Given the description of an element on the screen output the (x, y) to click on. 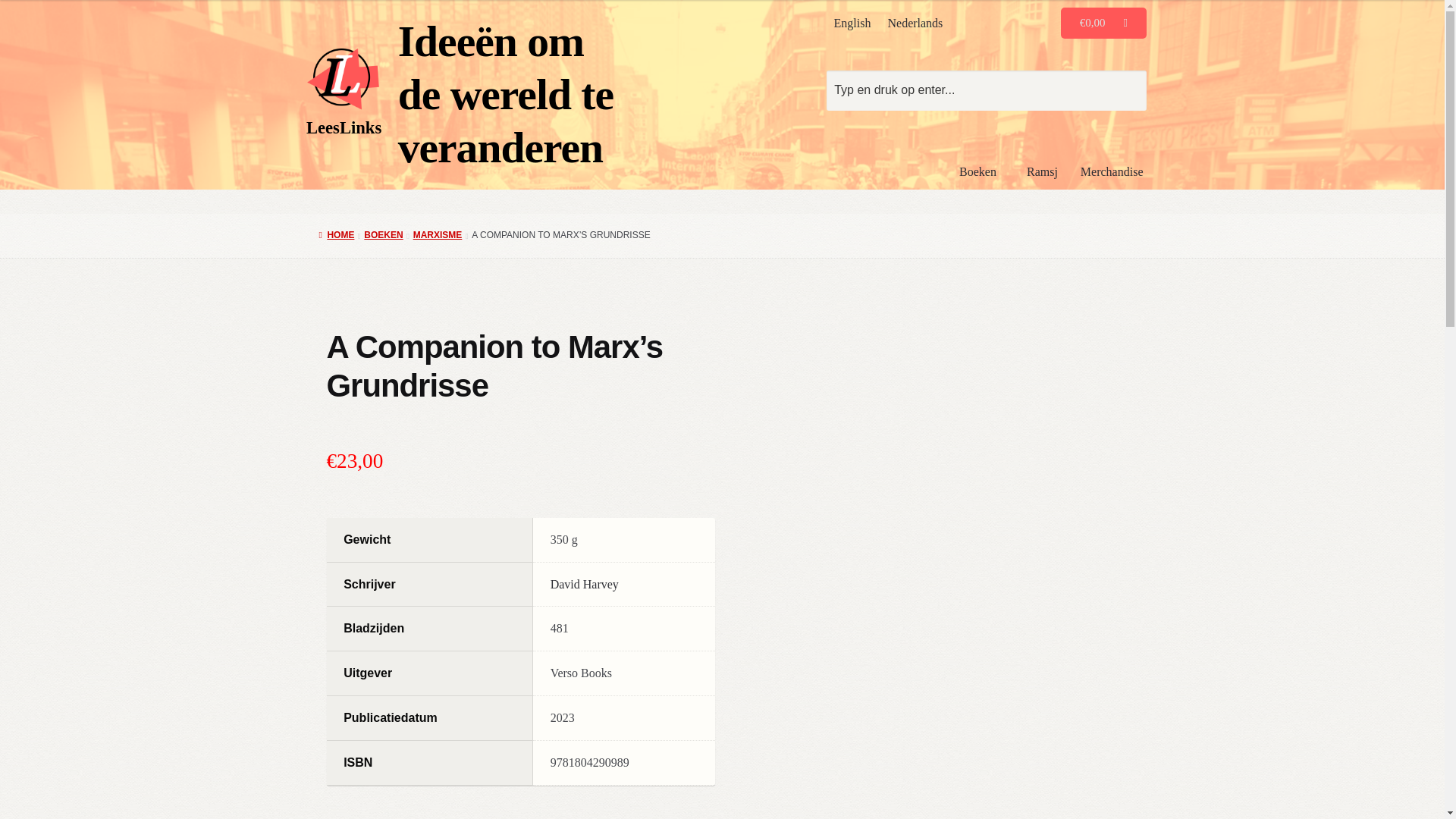
English (852, 22)
Ramsj (1041, 171)
English (852, 22)
Nederlands (914, 22)
Boeken (980, 171)
Dutch (914, 22)
Merchandise (1111, 171)
Zoeken (987, 90)
